Given the description of an element on the screen output the (x, y) to click on. 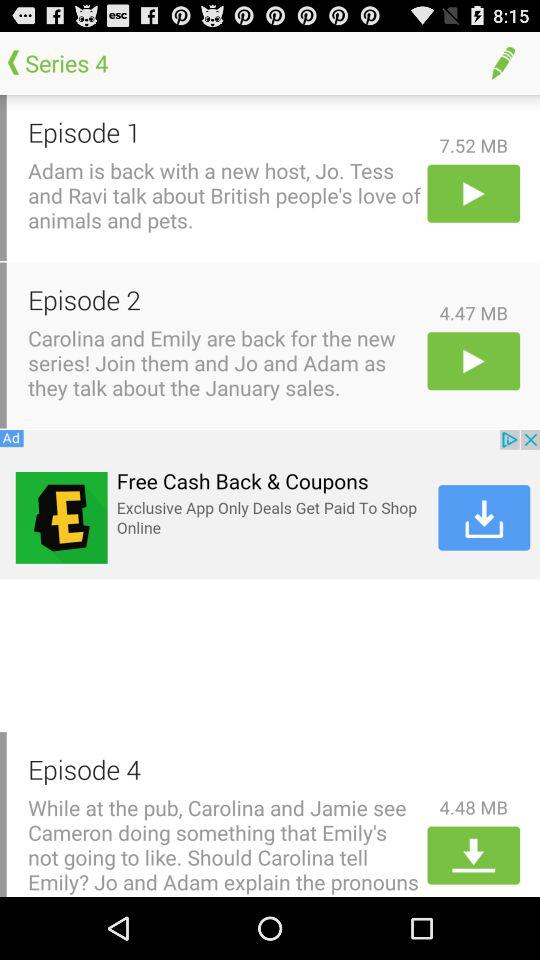
click to play 2 (473, 360)
